Given the description of an element on the screen output the (x, y) to click on. 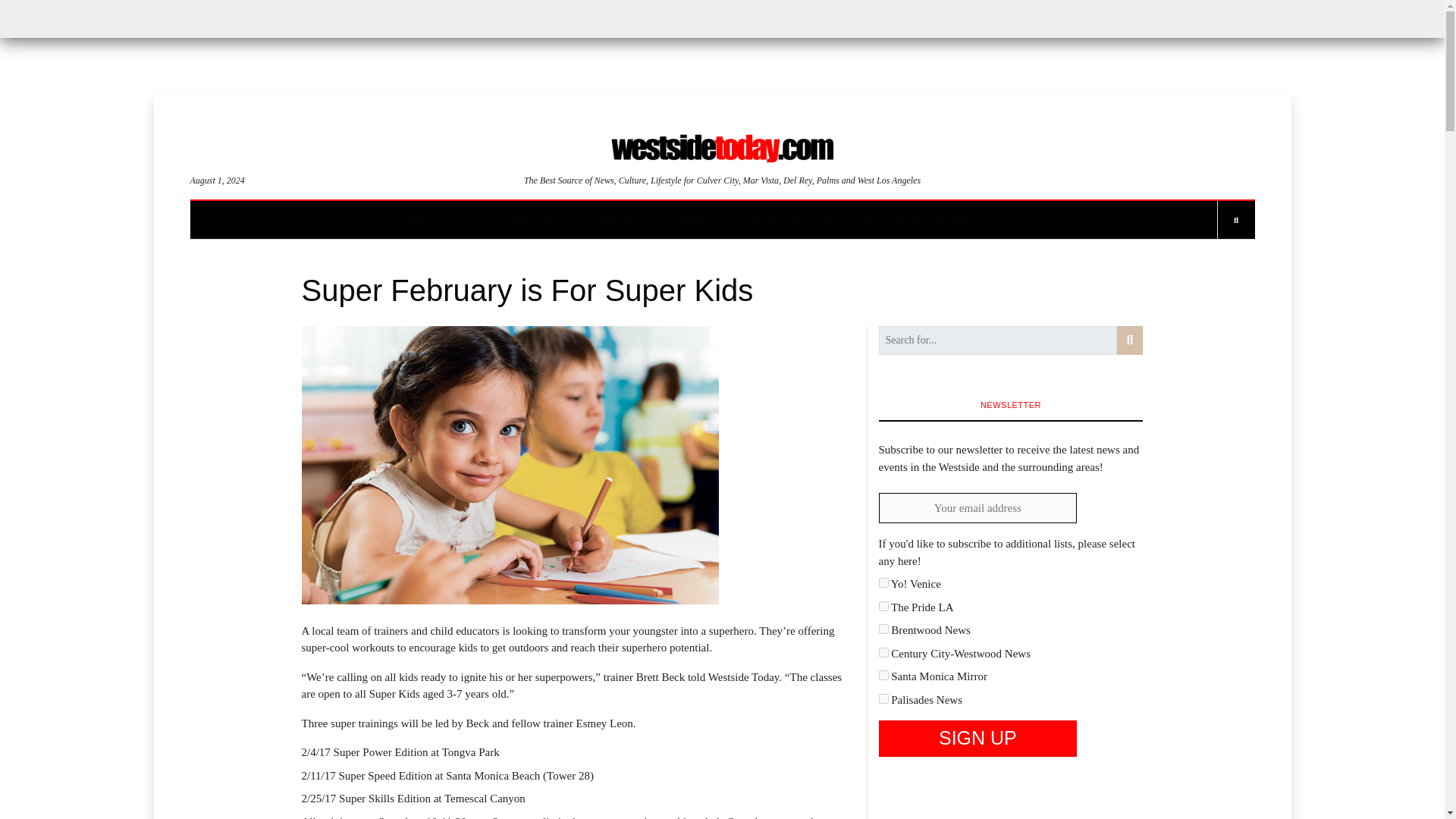
SUMMER CAMP 2024 (787, 219)
ADVERTISING (528, 219)
d0b5733862 (882, 675)
PR SERVICES (611, 219)
382281a661 (882, 628)
Sign up (977, 738)
ec7d882848 (882, 698)
5fac618226 (882, 652)
CONTACT US (693, 219)
2c616d28b5 (882, 583)
33f79e7e4d (882, 605)
